Given the description of an element on the screen output the (x, y) to click on. 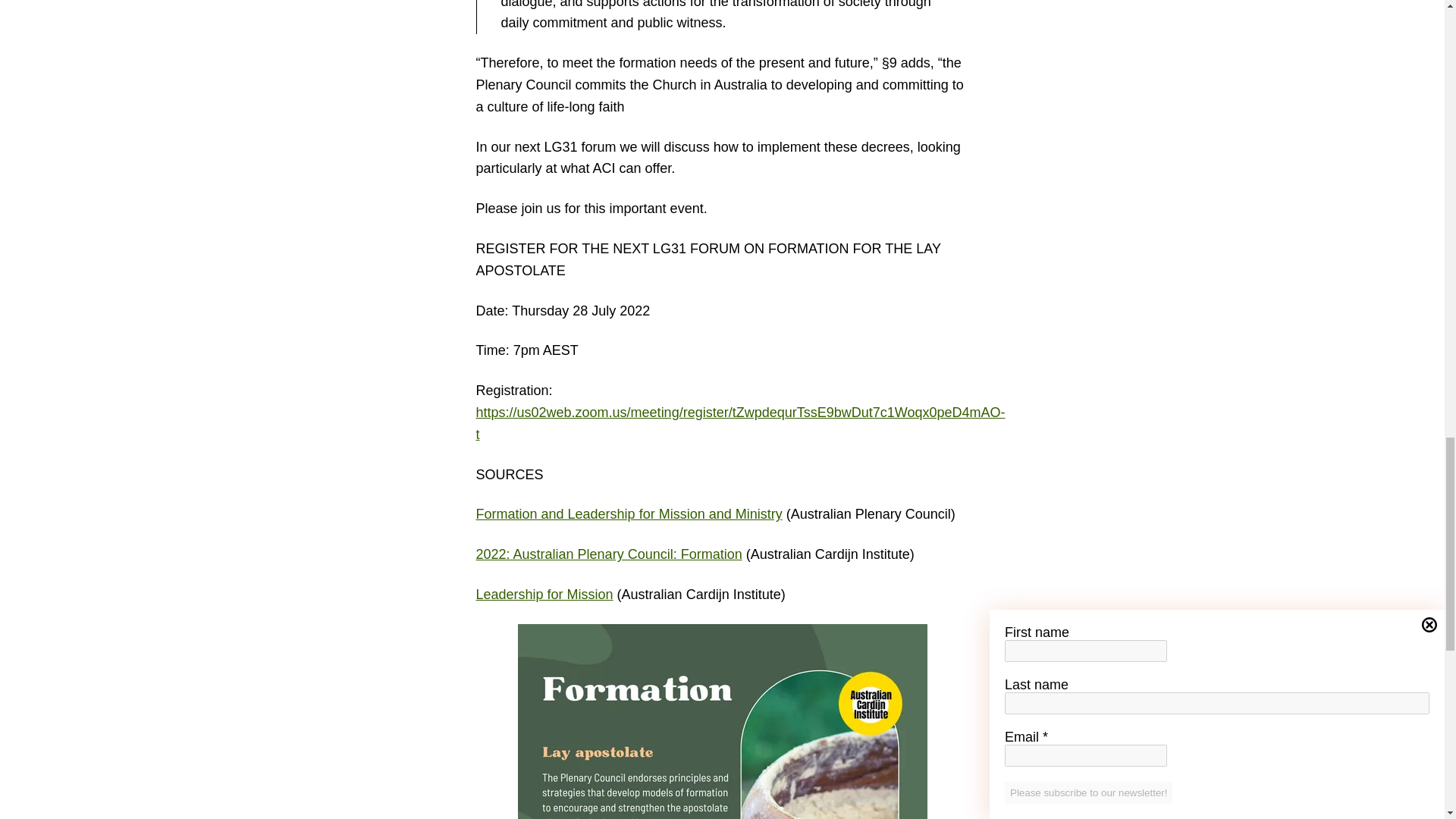
Formation and Leadership for Mission and Ministry (629, 513)
2022: Australian Plenary Council: Formation (609, 554)
Leadership for Mission (544, 594)
